Given the description of an element on the screen output the (x, y) to click on. 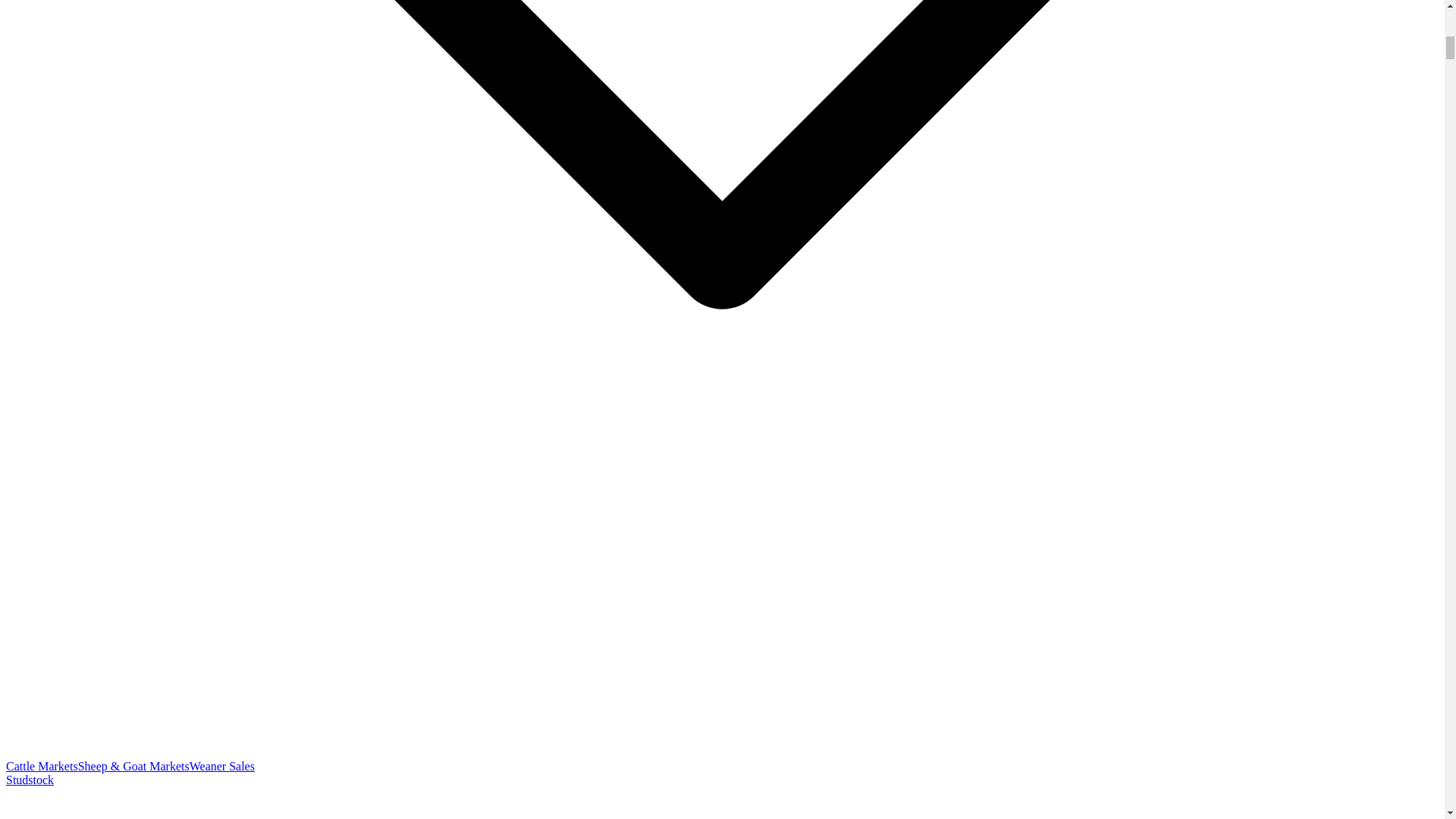
Cattle Markets (41, 766)
Weaner Sales (221, 766)
Studstock (29, 779)
